Given the description of an element on the screen output the (x, y) to click on. 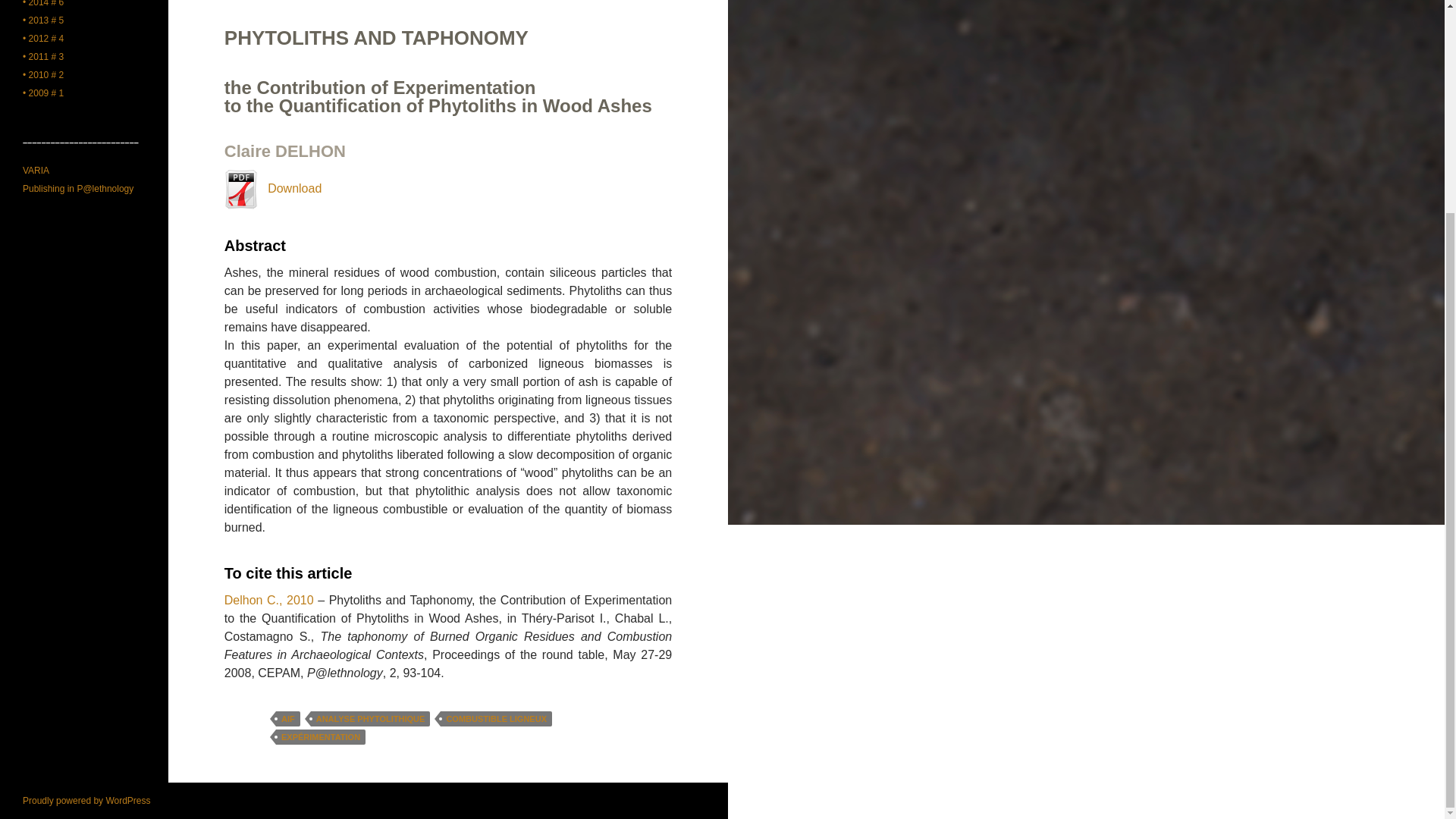
ANALYSE PHYTOLITHIQUE (370, 718)
Proudly powered by WordPress (87, 800)
   Download (272, 187)
COMBUSTIBLE LIGNEUX (496, 718)
VARIA (36, 170)
AIF (287, 718)
